Given the description of an element on the screen output the (x, y) to click on. 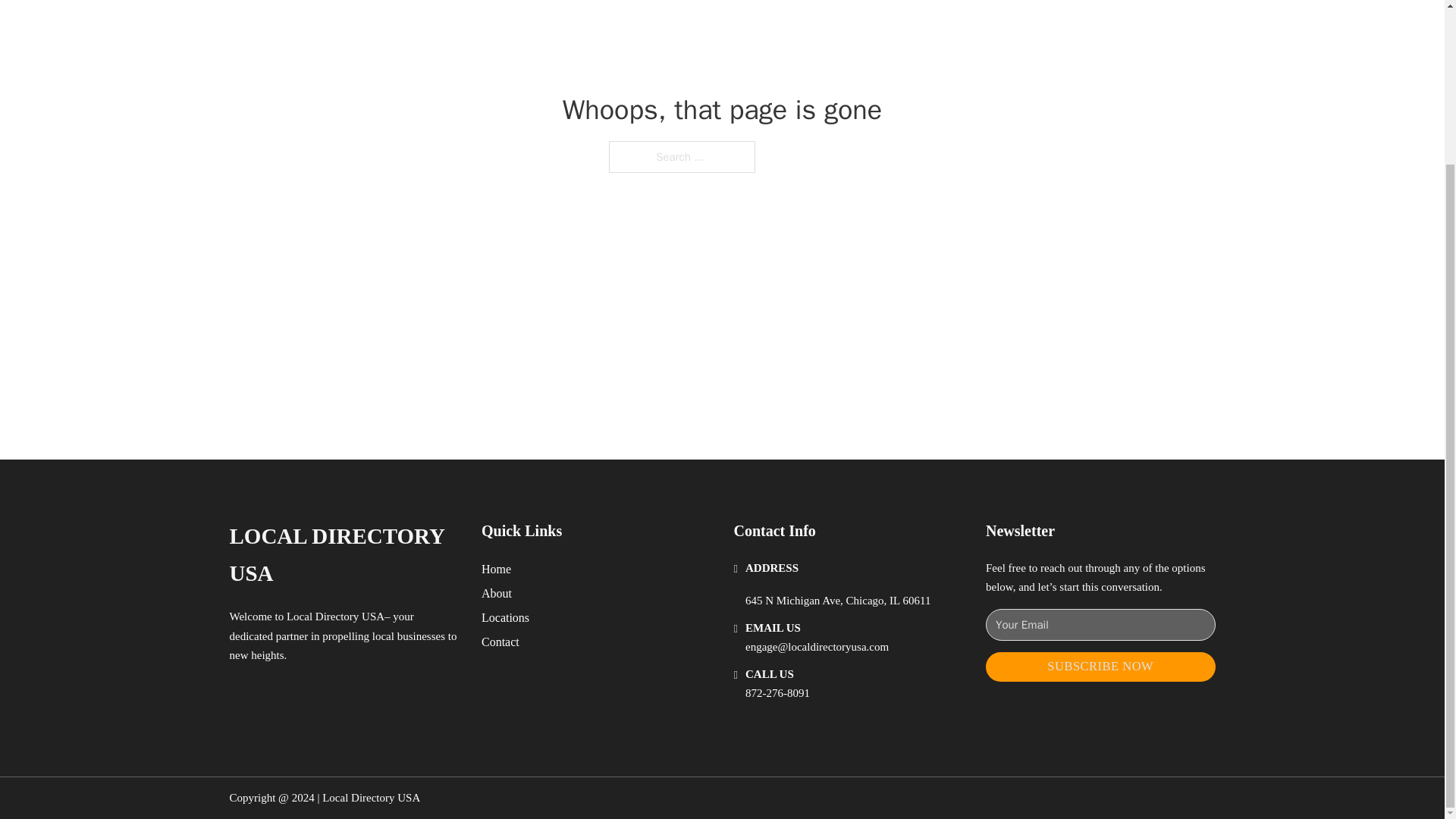
Contact (500, 641)
Locations (505, 617)
872-276-8091 (777, 693)
Home (496, 568)
About (496, 593)
LOCAL DIRECTORY USA (343, 554)
SUBSCRIBE NOW (1100, 666)
